Given the description of an element on the screen output the (x, y) to click on. 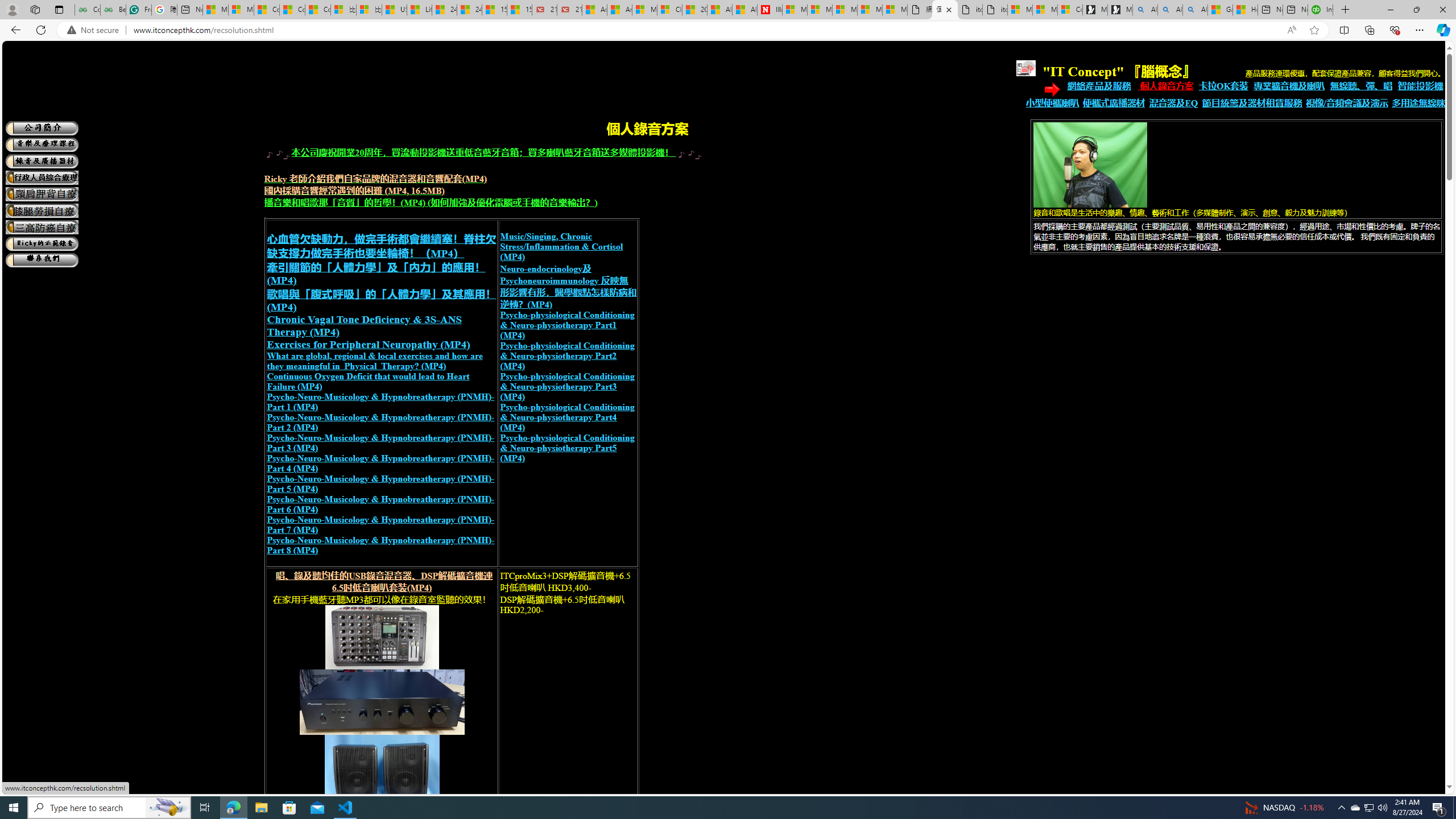
Lifestyle - MSN (418, 9)
